Given the description of an element on the screen output the (x, y) to click on. 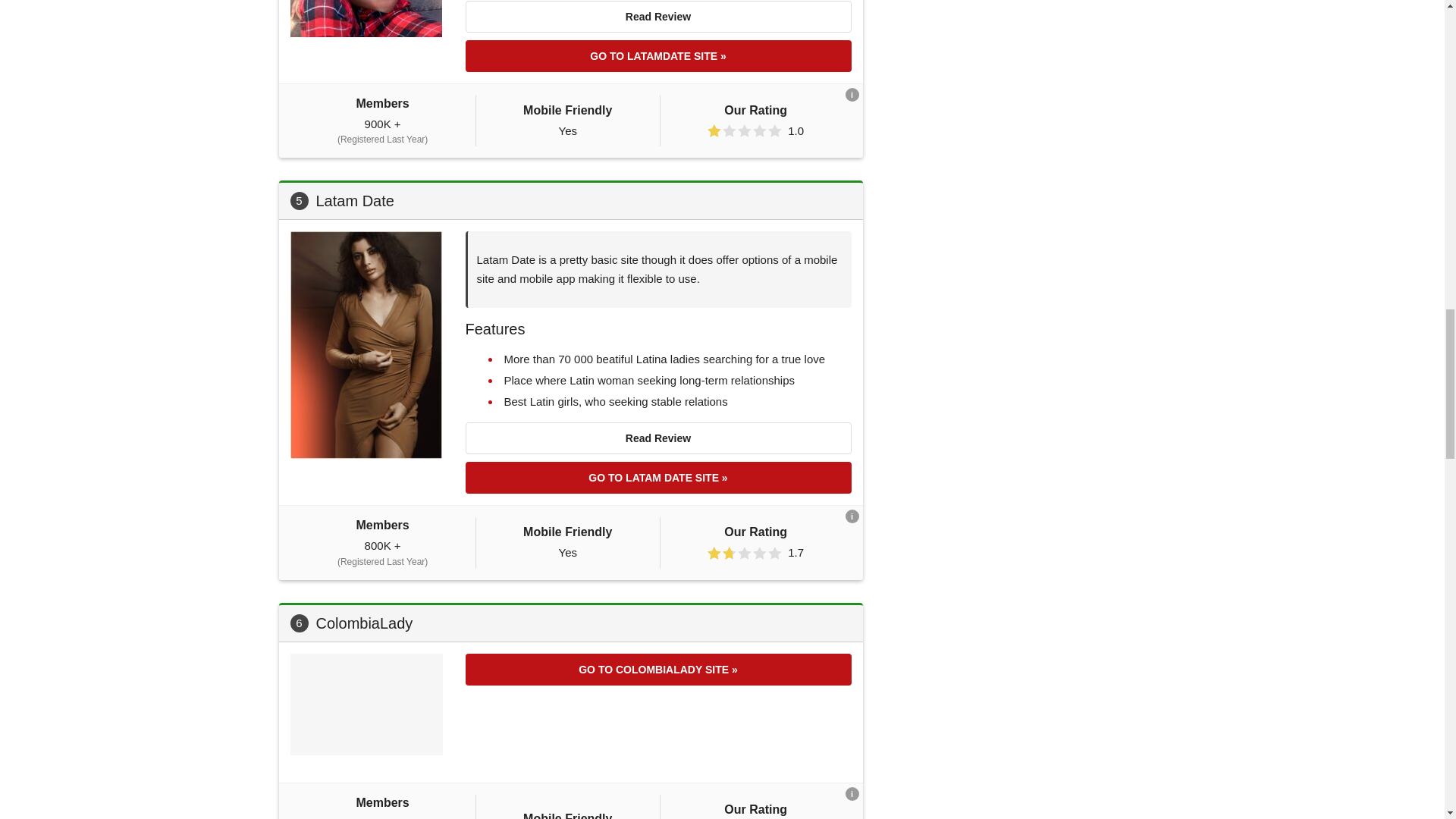
i (851, 793)
Our Score (744, 553)
Read Review (658, 438)
i (851, 94)
i (851, 516)
Read Review (658, 16)
Our Score (744, 130)
